Given the description of an element on the screen output the (x, y) to click on. 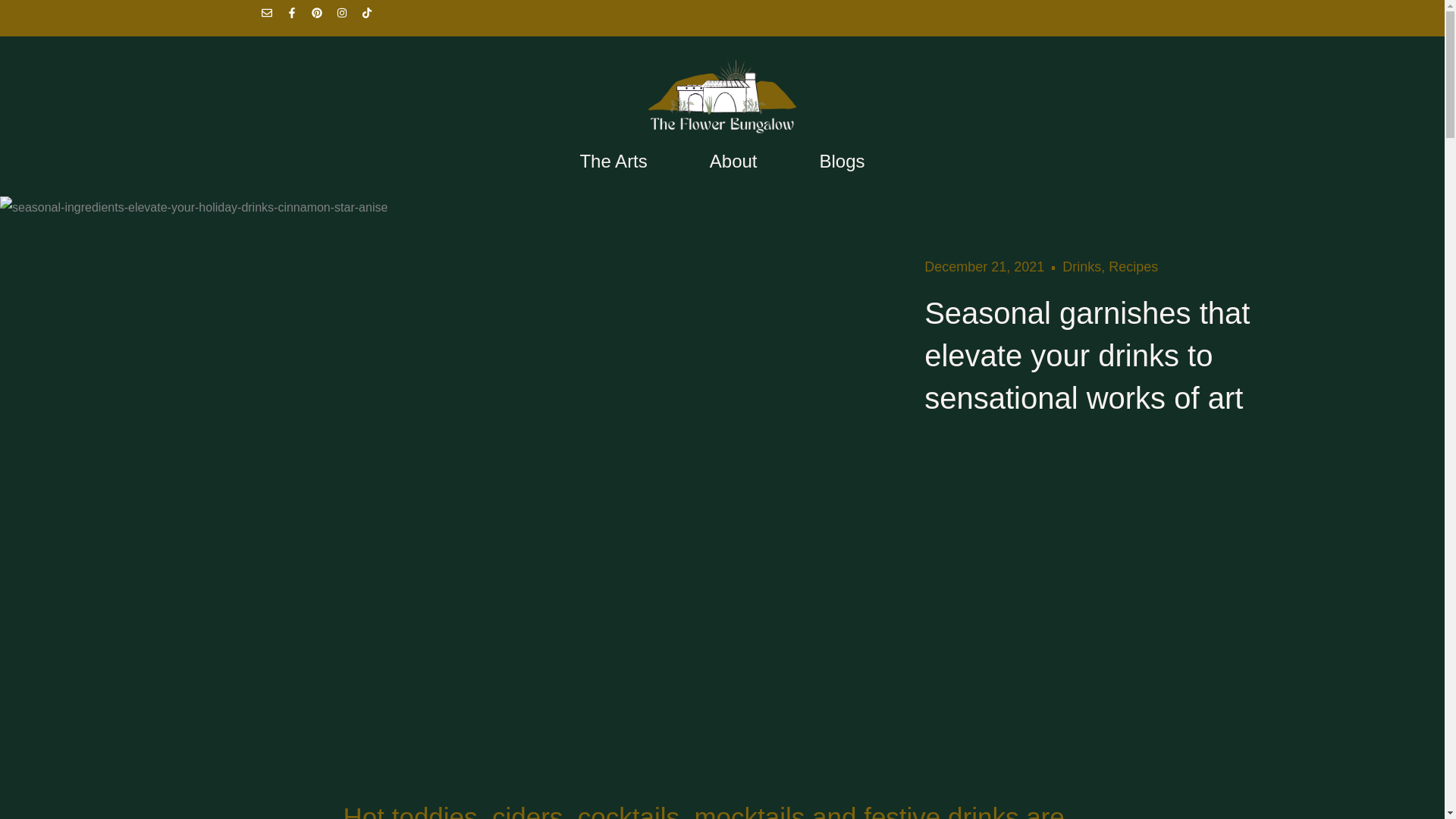
Recipes (1132, 266)
Pinterest (322, 17)
The Arts (613, 160)
Blogs (842, 160)
Facebook-f (296, 17)
Tiktok (371, 17)
Instagram (347, 17)
Drinks (1081, 266)
December 21, 2021 (983, 267)
Envelope (272, 17)
